Given the description of an element on the screen output the (x, y) to click on. 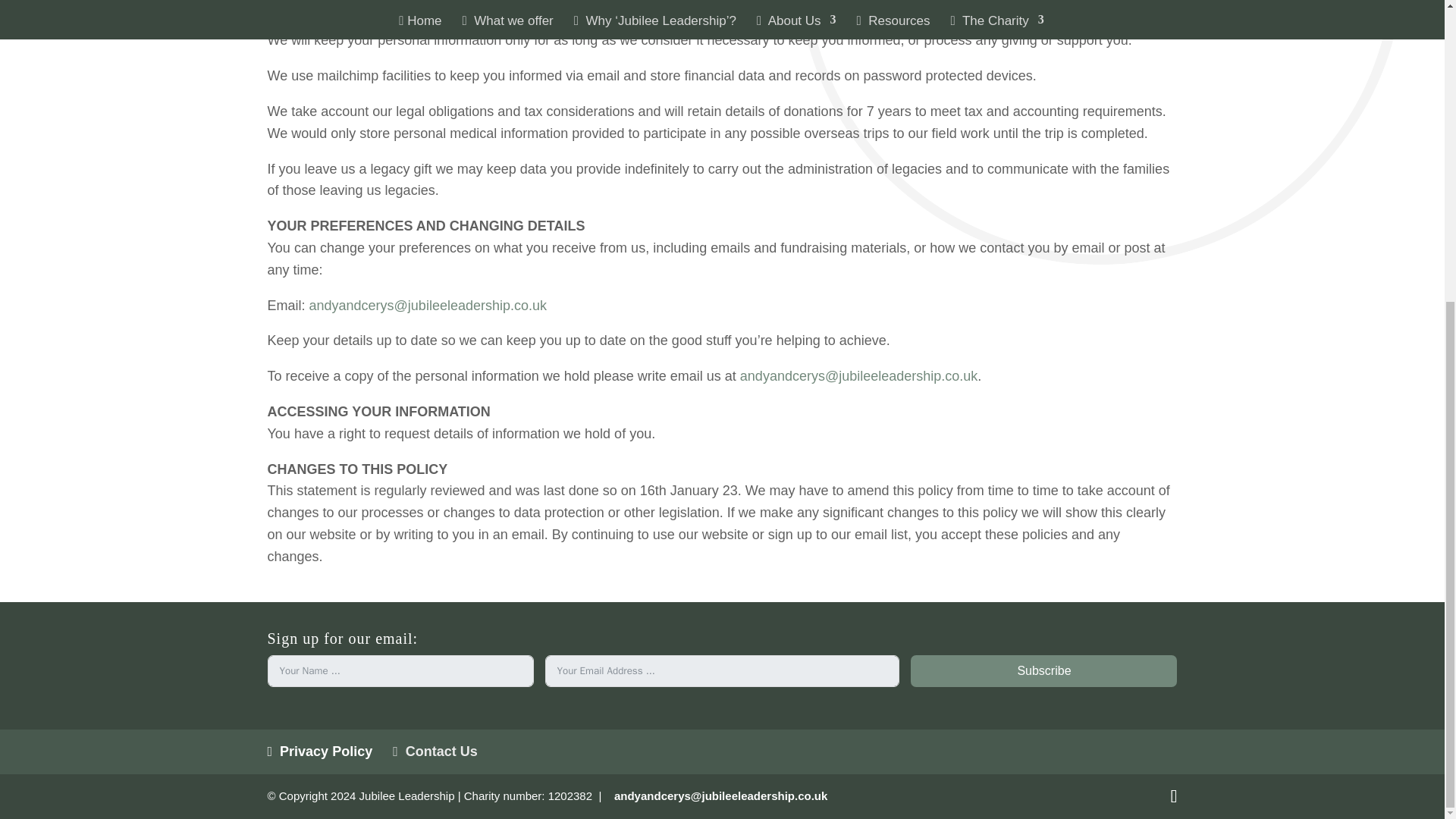
 Contact Us (435, 751)
Subscribe (1043, 670)
 Privacy Policy (319, 751)
